Given the description of an element on the screen output the (x, y) to click on. 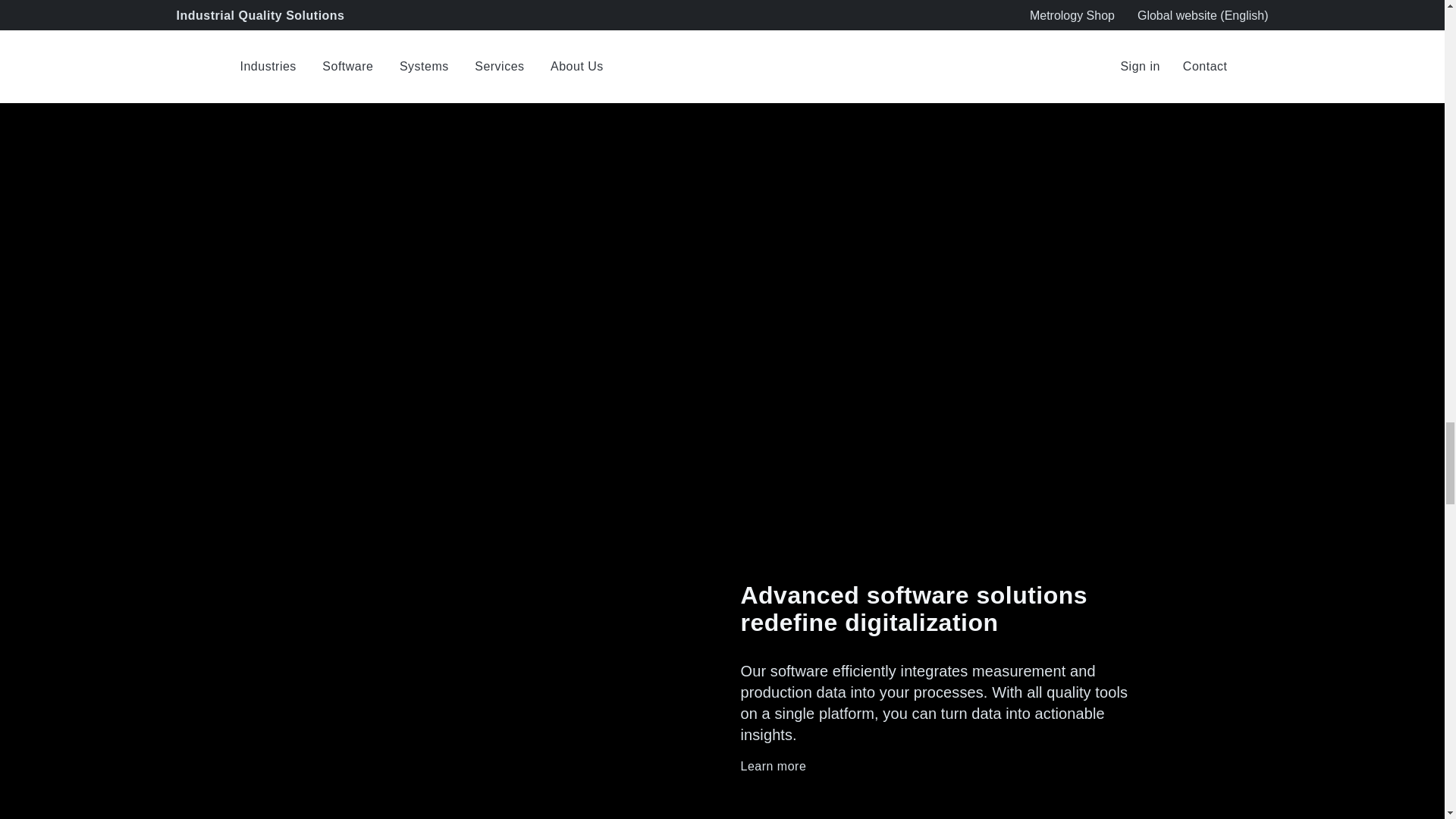
Learn more (935, 766)
Advanced software solutions redefine digitalization (935, 608)
